Given the description of an element on the screen output the (x, y) to click on. 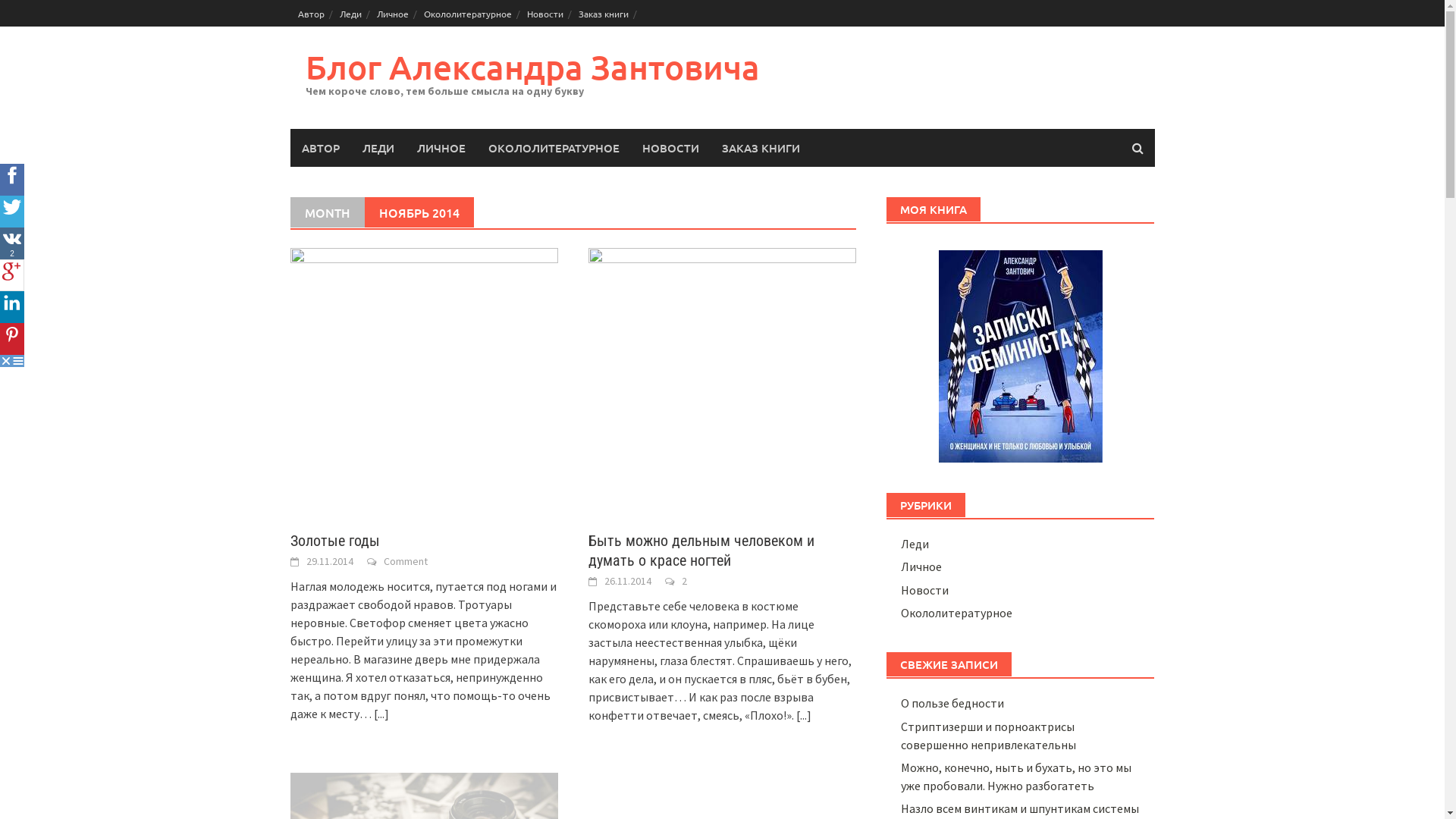
[...] Element type: text (803, 714)
Comment Element type: text (405, 560)
2 Element type: text (684, 580)
[...] Element type: text (380, 713)
LinkedIn Element type: hover (12, 307)
Google+ Element type: hover (12, 275)
26.11.2014 Element type: text (627, 580)
Twitter Element type: hover (12, 211)
Pinterest Element type: hover (12, 338)
29.11.2014 Element type: text (329, 560)
2 Element type: text (12, 243)
Facebook Element type: hover (12, 179)
Hide Element type: hover (6, 360)
